Given the description of an element on the screen output the (x, y) to click on. 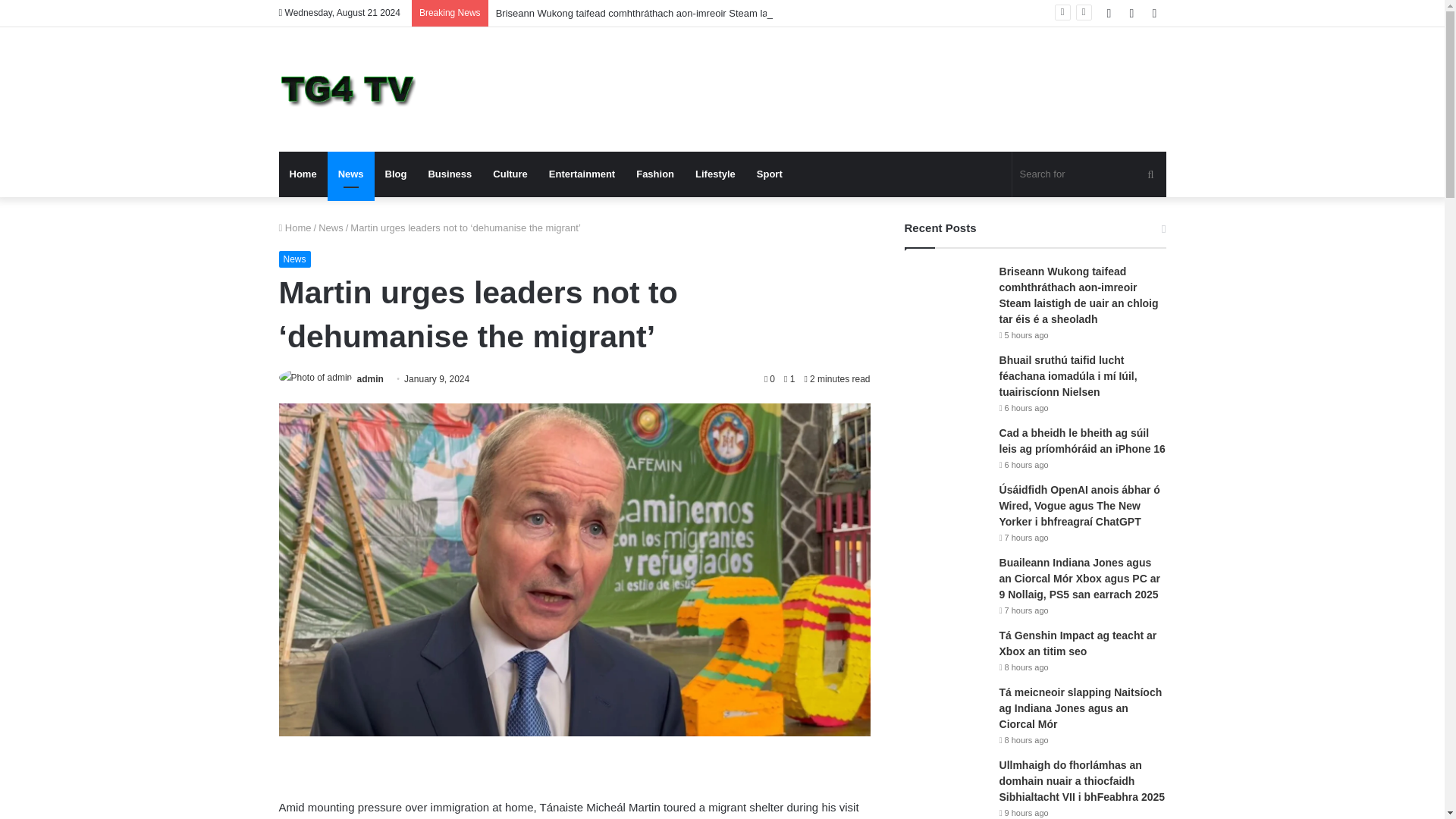
Sport (769, 174)
Fashion (655, 174)
admin (370, 378)
Search for (1088, 174)
admin (370, 378)
Blog (395, 174)
News (330, 227)
Entertainment (582, 174)
Home (303, 174)
Home (295, 227)
